Given the description of an element on the screen output the (x, y) to click on. 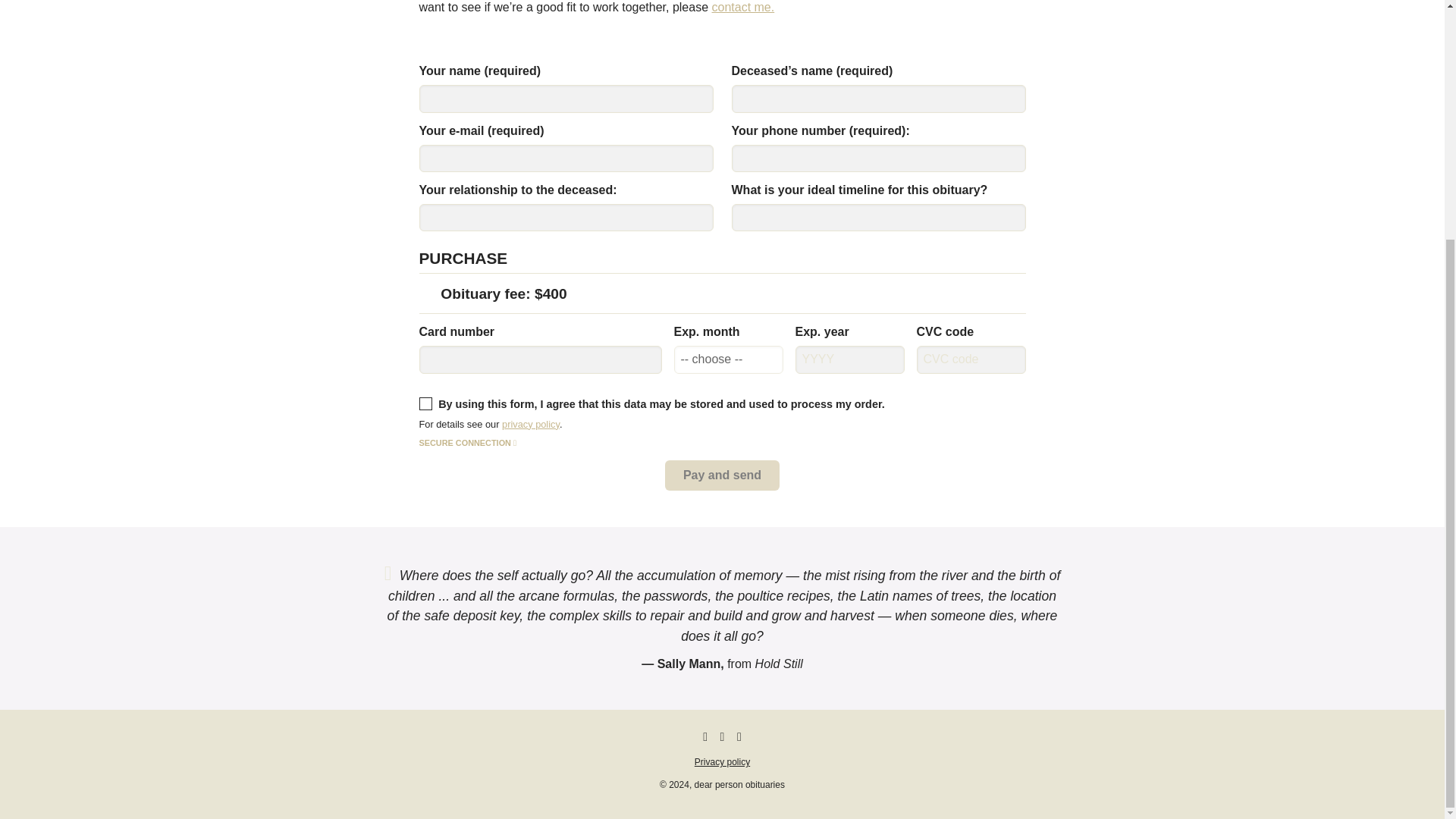
contact me. (742, 6)
Privacy policy (721, 761)
Pay and send (721, 475)
Pay and send (721, 475)
privacy policy (530, 423)
